Given the description of an element on the screen output the (x, y) to click on. 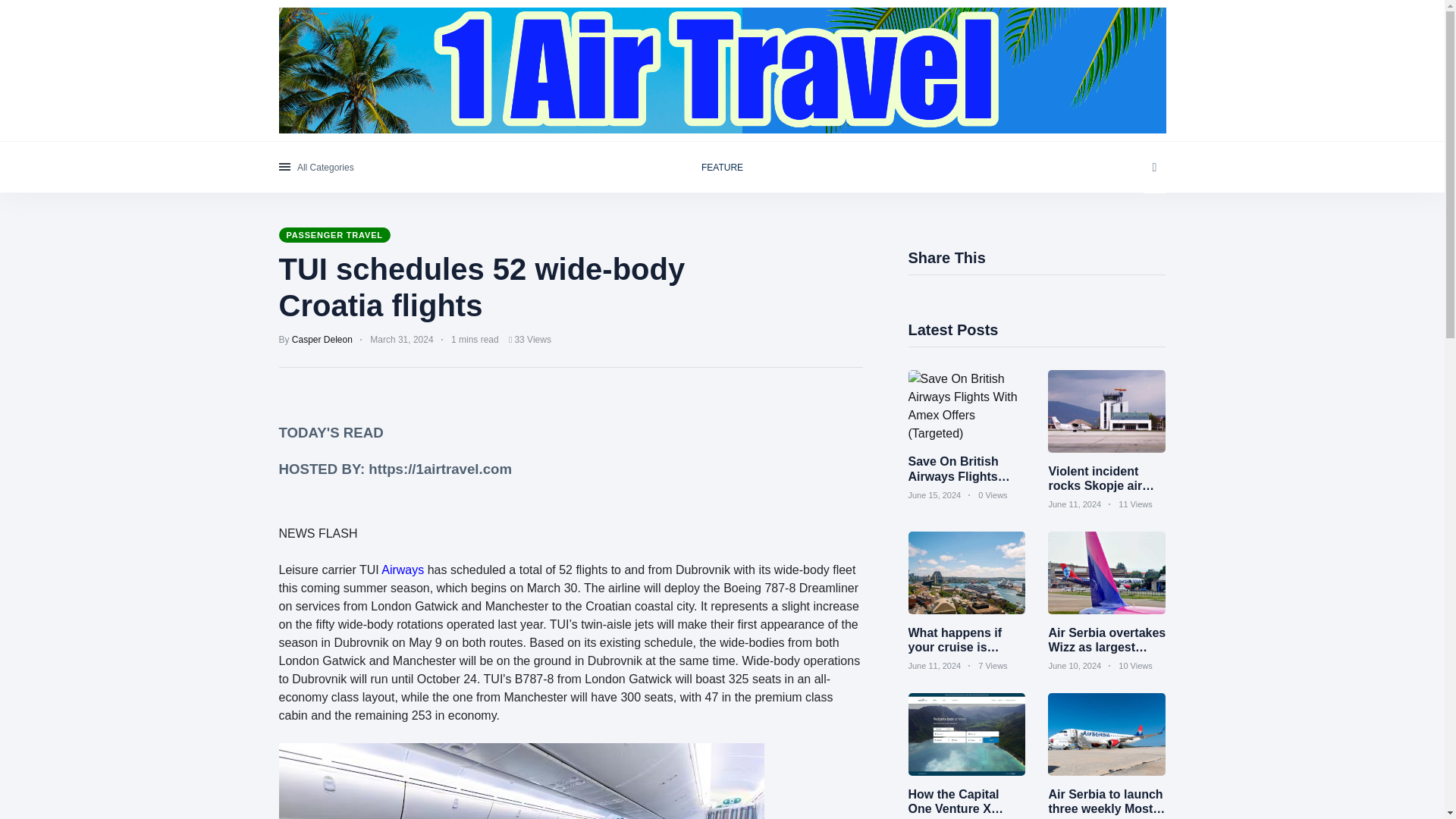
FEATURE (722, 167)
Airways (402, 569)
PASSENGER TRAVEL (334, 235)
Casper Deleon (322, 339)
